Given the description of an element on the screen output the (x, y) to click on. 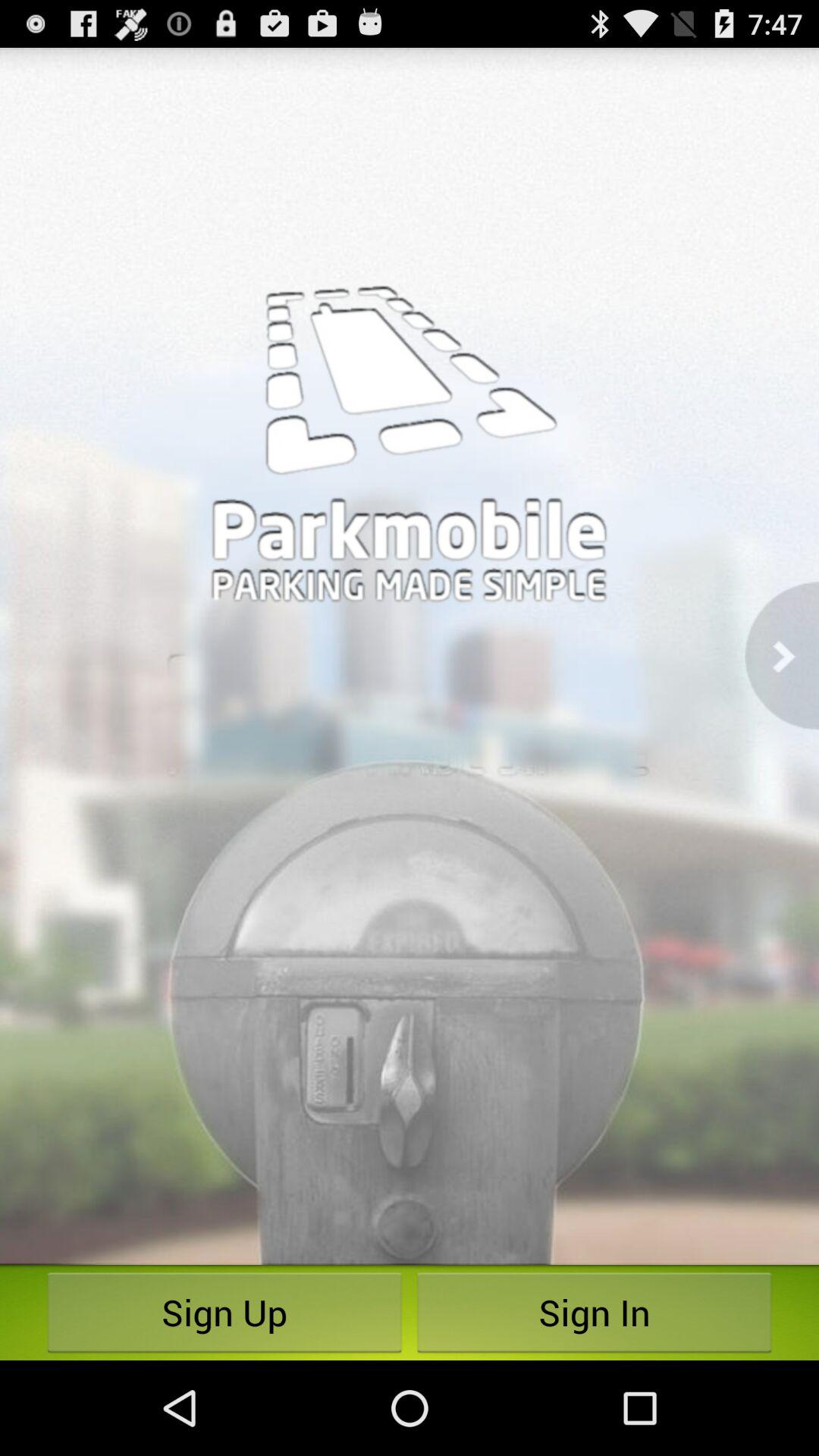
click the sign up item (224, 1312)
